Given the description of an element on the screen output the (x, y) to click on. 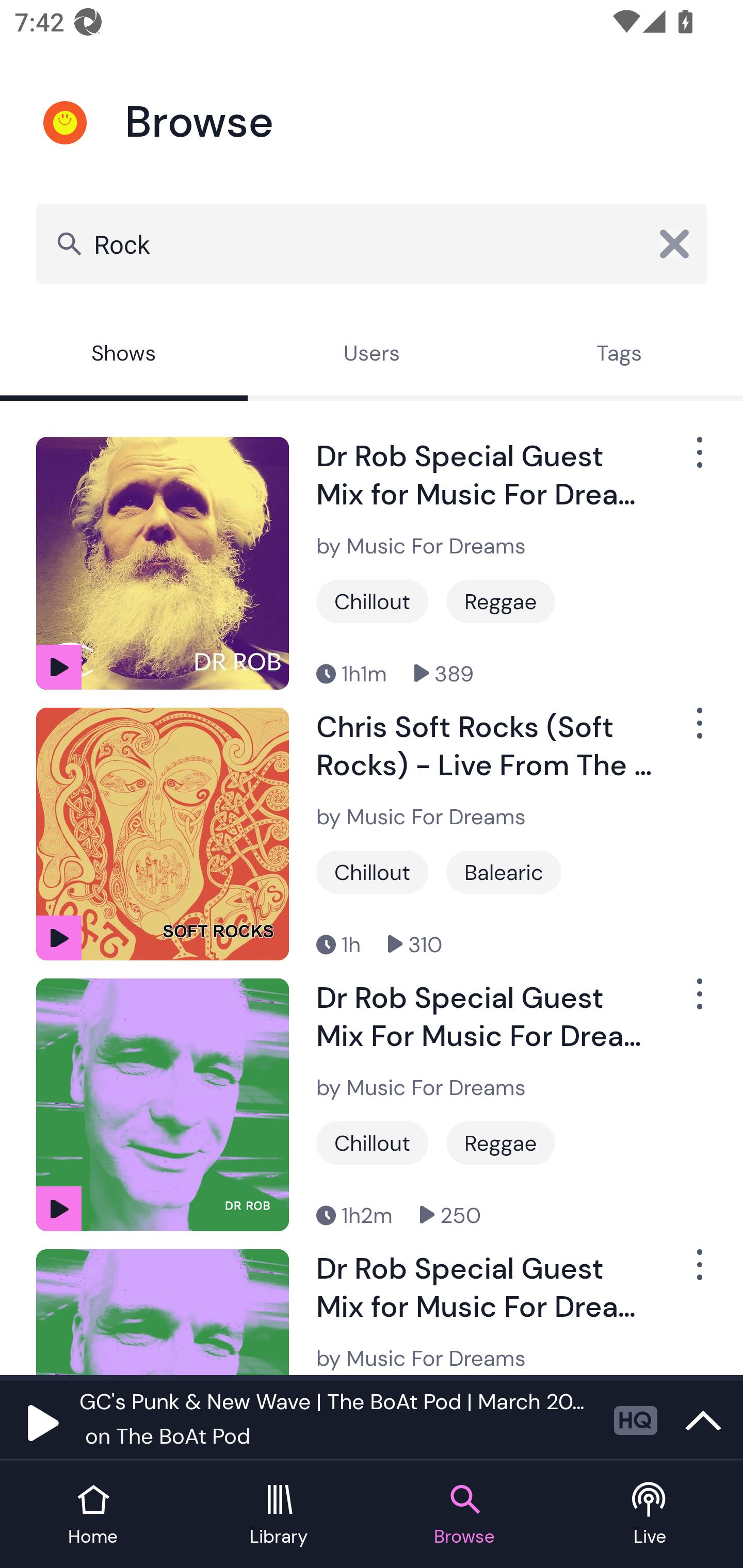
Rock (371, 243)
Shows (123, 355)
Users (371, 355)
Tags (619, 355)
Show Options Menu Button (697, 460)
Chillout (371, 601)
Reggae (500, 601)
Show Options Menu Button (697, 730)
Chillout (371, 871)
Balearic (503, 871)
Show Options Menu Button (697, 1001)
Chillout (371, 1143)
Reggae (500, 1143)
Show Options Menu Button (697, 1272)
Home tab Home (92, 1515)
Library tab Library (278, 1515)
Browse tab Browse (464, 1515)
Live tab Live (650, 1515)
